Given the description of an element on the screen output the (x, y) to click on. 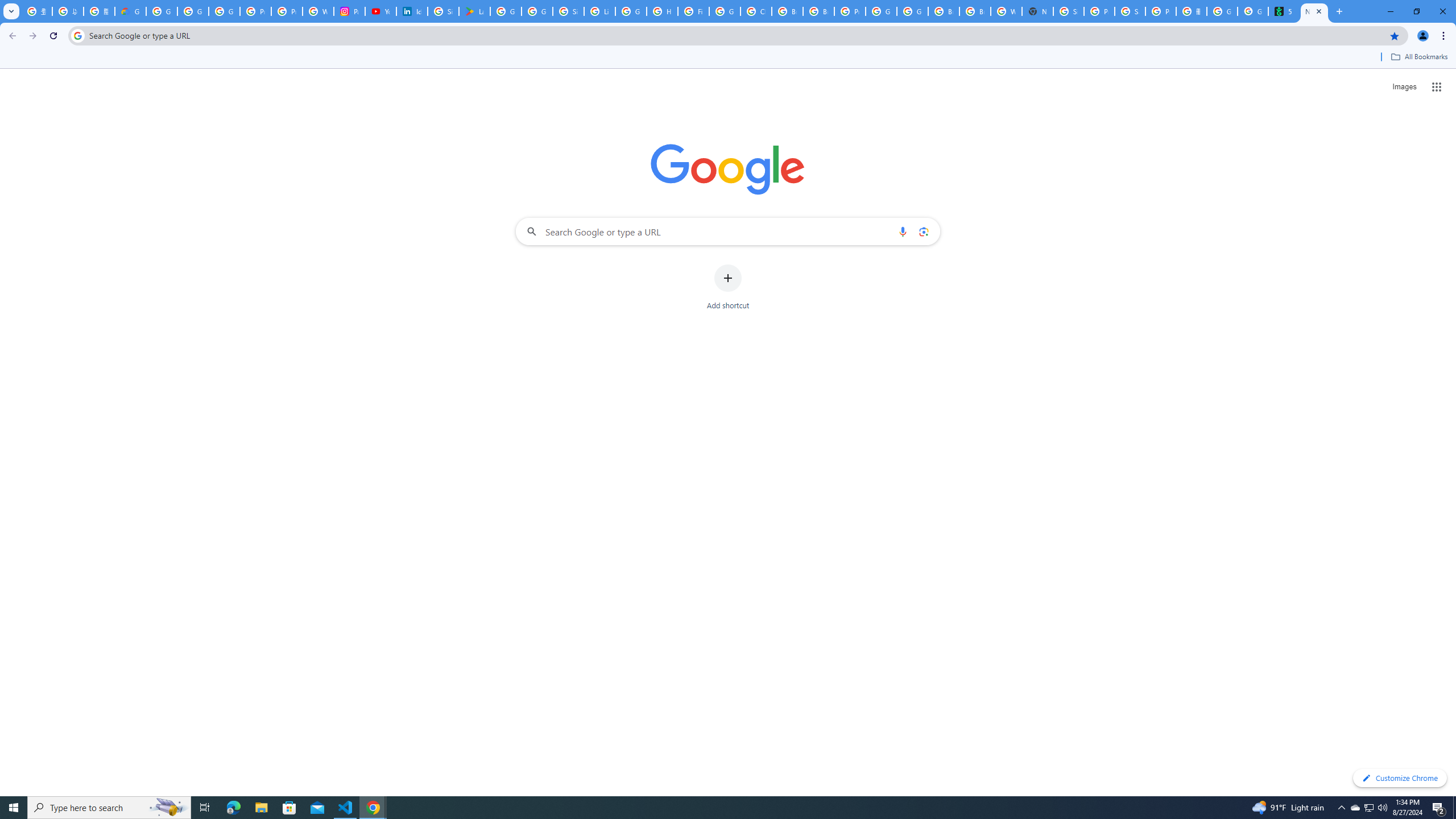
New Tab (1037, 11)
How do I create a new Google Account? - Google Account Help (662, 11)
Browse Chrome as a guest - Computer - Google Chrome Help (943, 11)
